Given the description of an element on the screen output the (x, y) to click on. 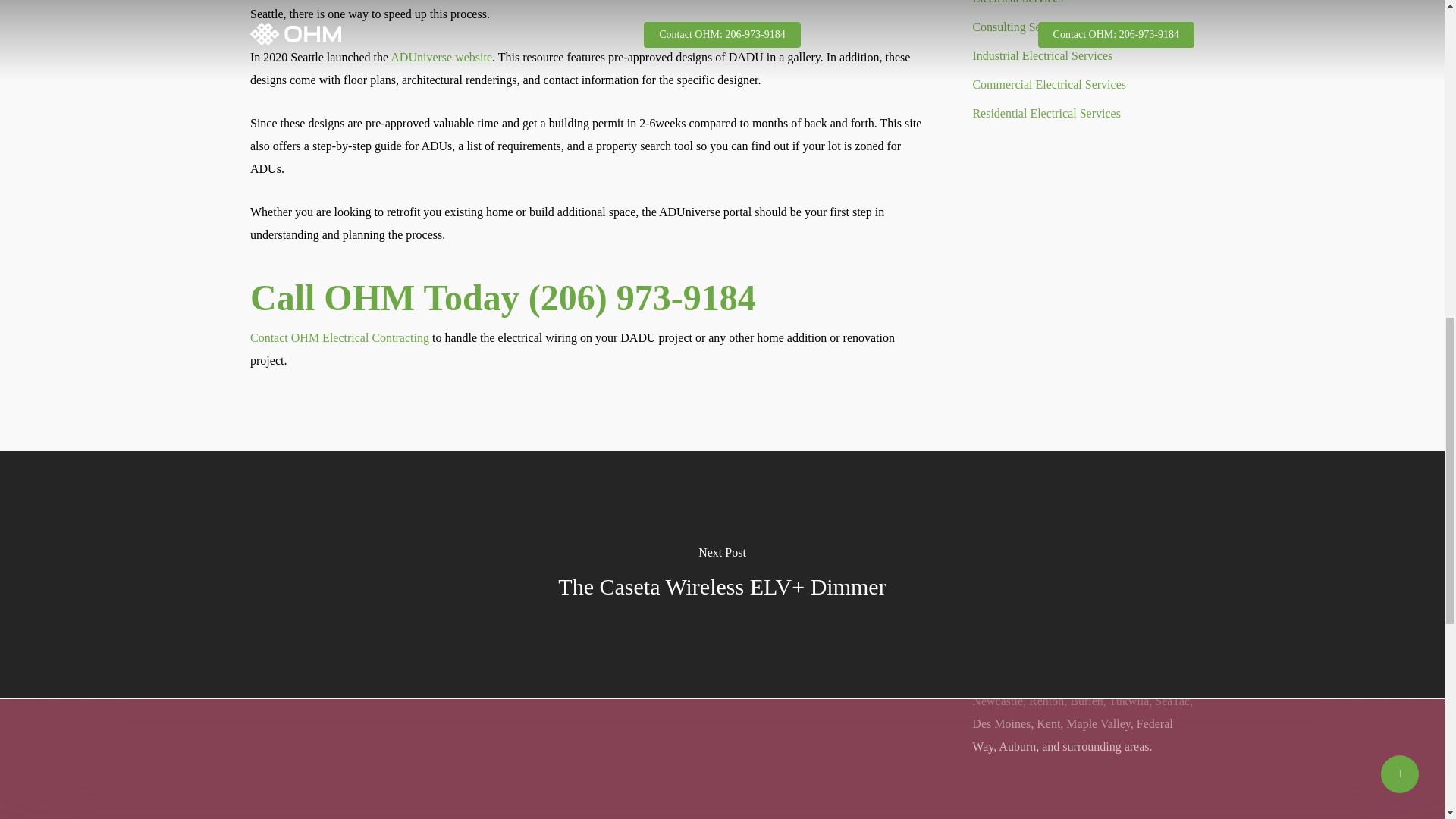
Residential Electrical Services (1082, 113)
Contact OHM Electrical Contracting (339, 337)
Consulting Services (1082, 26)
Electrical Services (1082, 4)
ADUniverse website (441, 56)
Industrial Electrical Services (1082, 56)
Commercial Electrical Services (1082, 84)
